Given the description of an element on the screen output the (x, y) to click on. 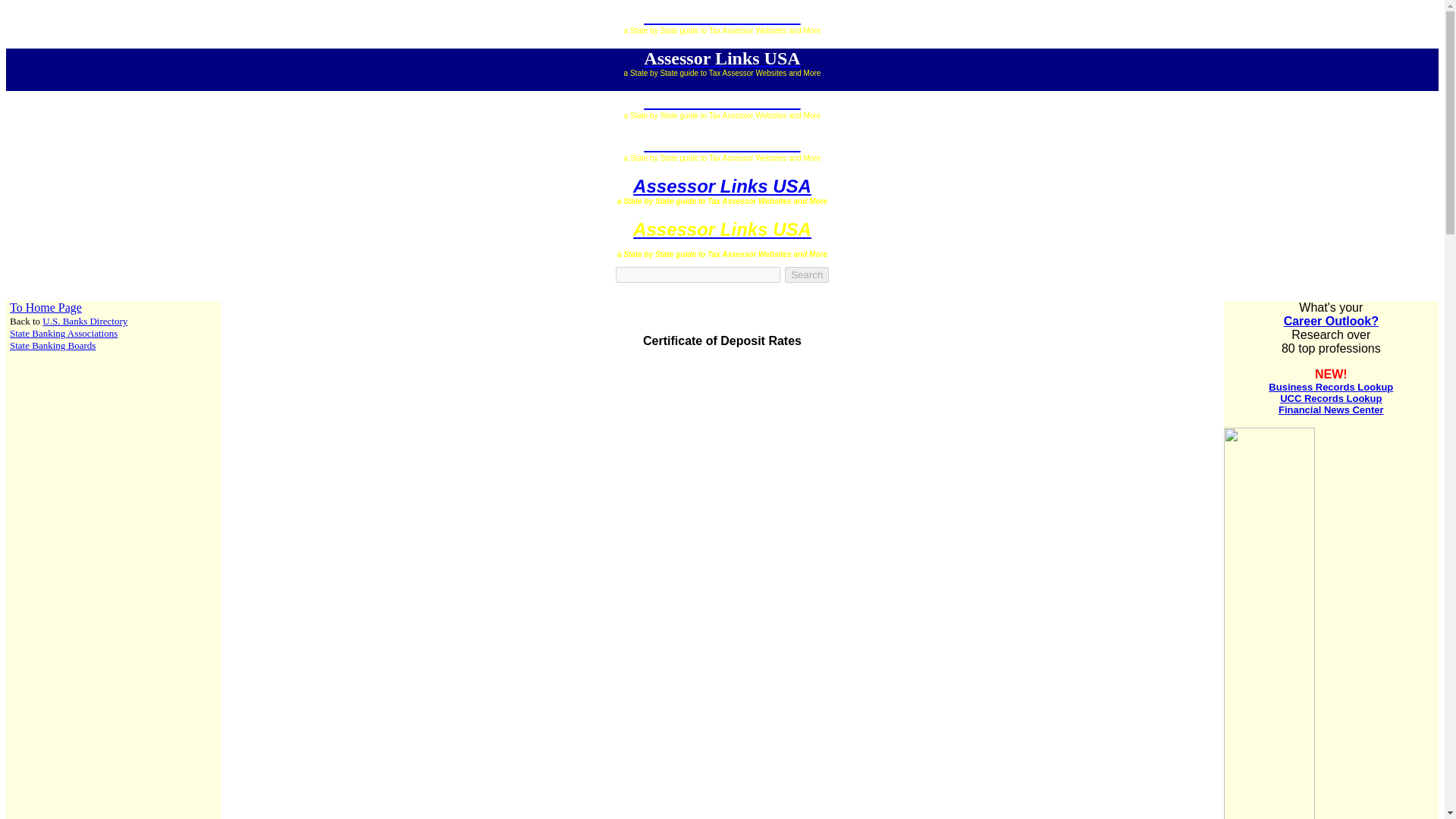
Search (806, 274)
Search (806, 274)
Assessor Links USA (721, 143)
Business Records Lookup (1330, 387)
Assessor Links USA (721, 229)
Career Outlook? (1331, 320)
UCC Records Lookup (1330, 398)
Financial News Center (1331, 409)
State Banking Associations (63, 333)
Assessor Links USA (721, 57)
